Given the description of an element on the screen output the (x, y) to click on. 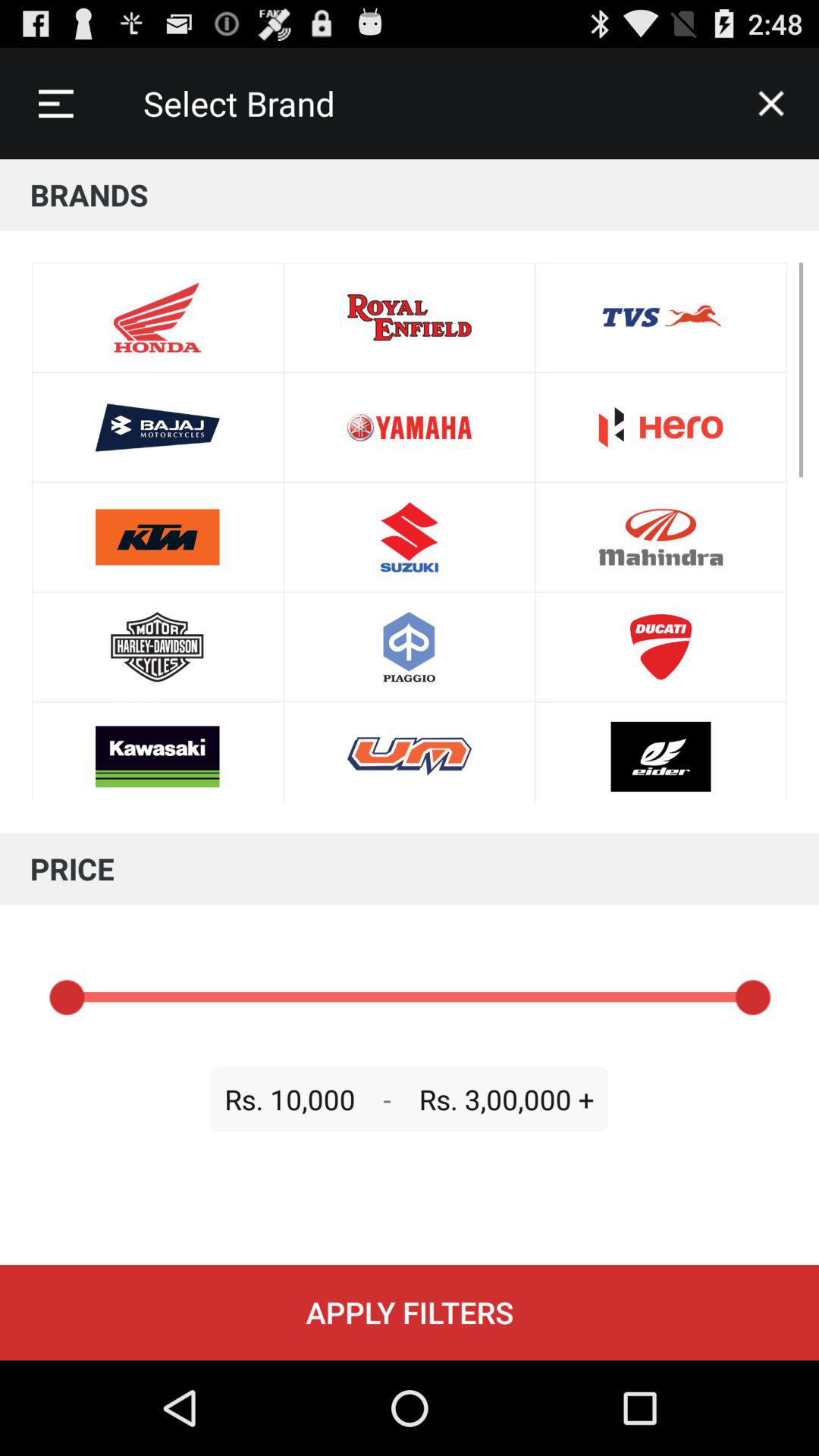
swipe to the apply filters item (409, 1312)
